Given the description of an element on the screen output the (x, y) to click on. 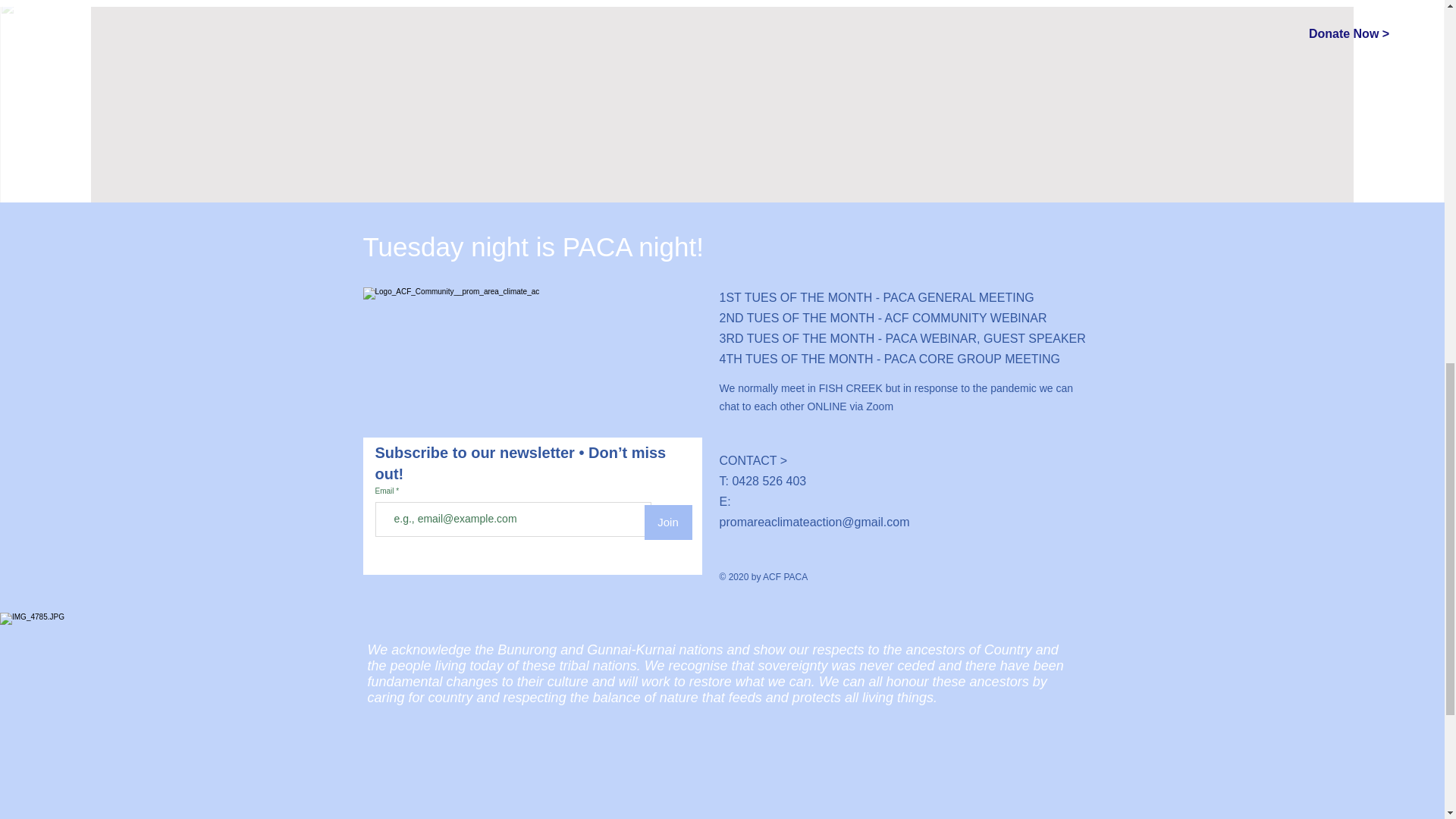
Join (669, 522)
